Given the description of an element on the screen output the (x, y) to click on. 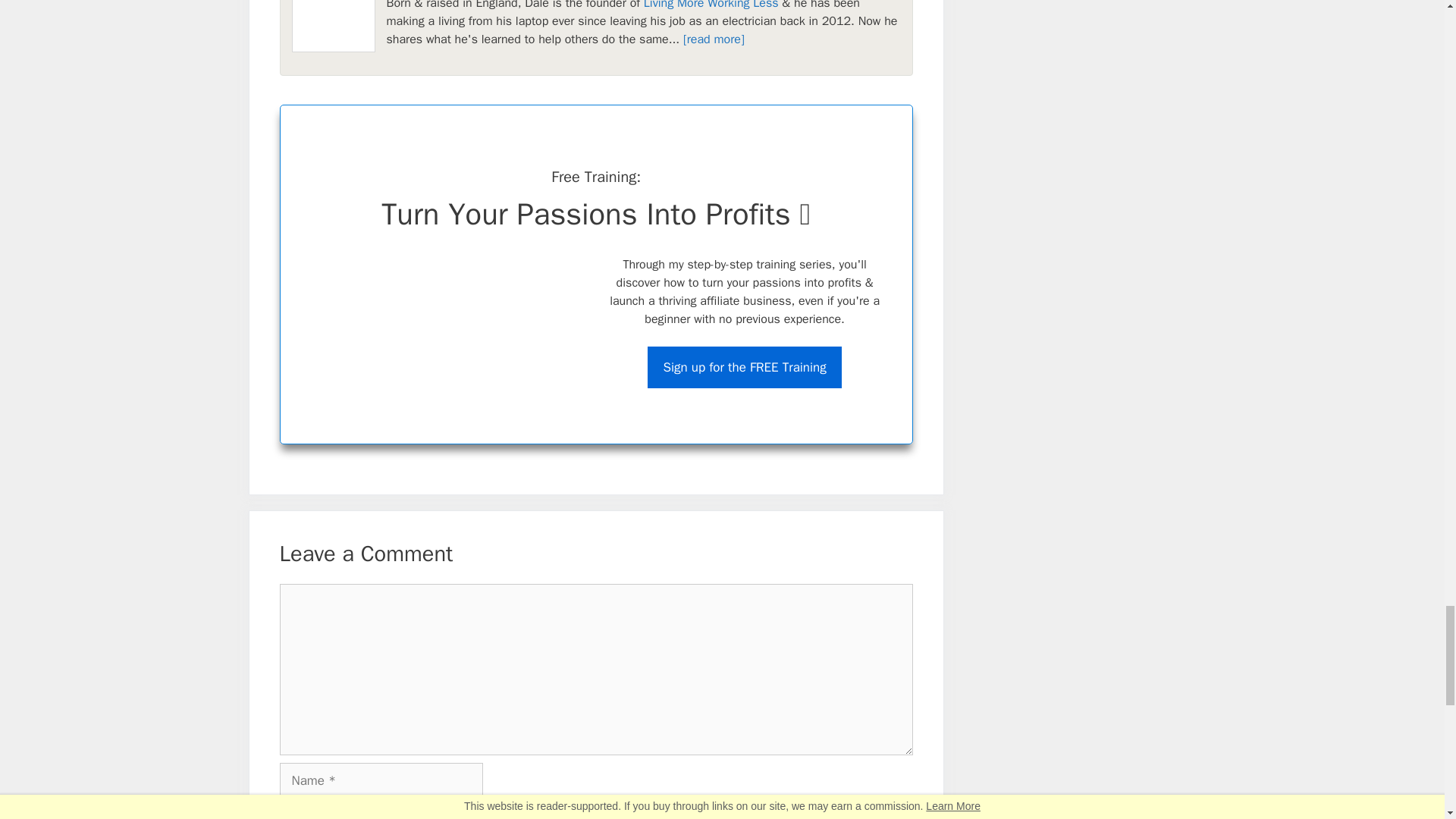
Living More Working Less (710, 5)
Read More (713, 38)
Sign up for the FREE Training (744, 367)
